Given the description of an element on the screen output the (x, y) to click on. 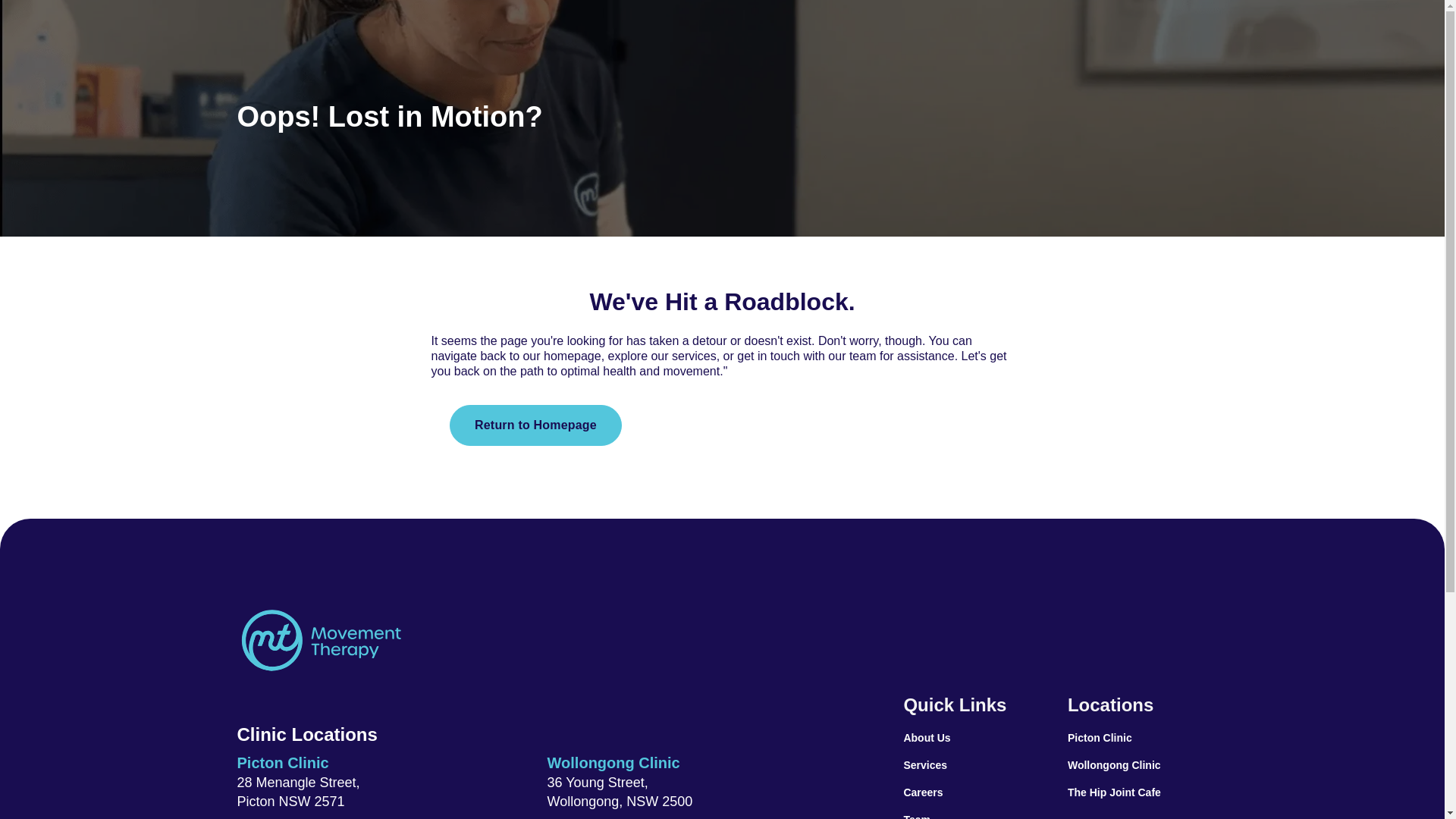
Careers Element type: text (922, 792)
Return to Homepage Element type: text (534, 424)
Picton Clinic Element type: text (1099, 737)
About Us Element type: text (926, 737)
Services Element type: text (925, 764)
The Hip Joint Cafe Element type: text (1114, 792)
Wollongong Clinic Element type: text (1114, 764)
